Given the description of an element on the screen output the (x, y) to click on. 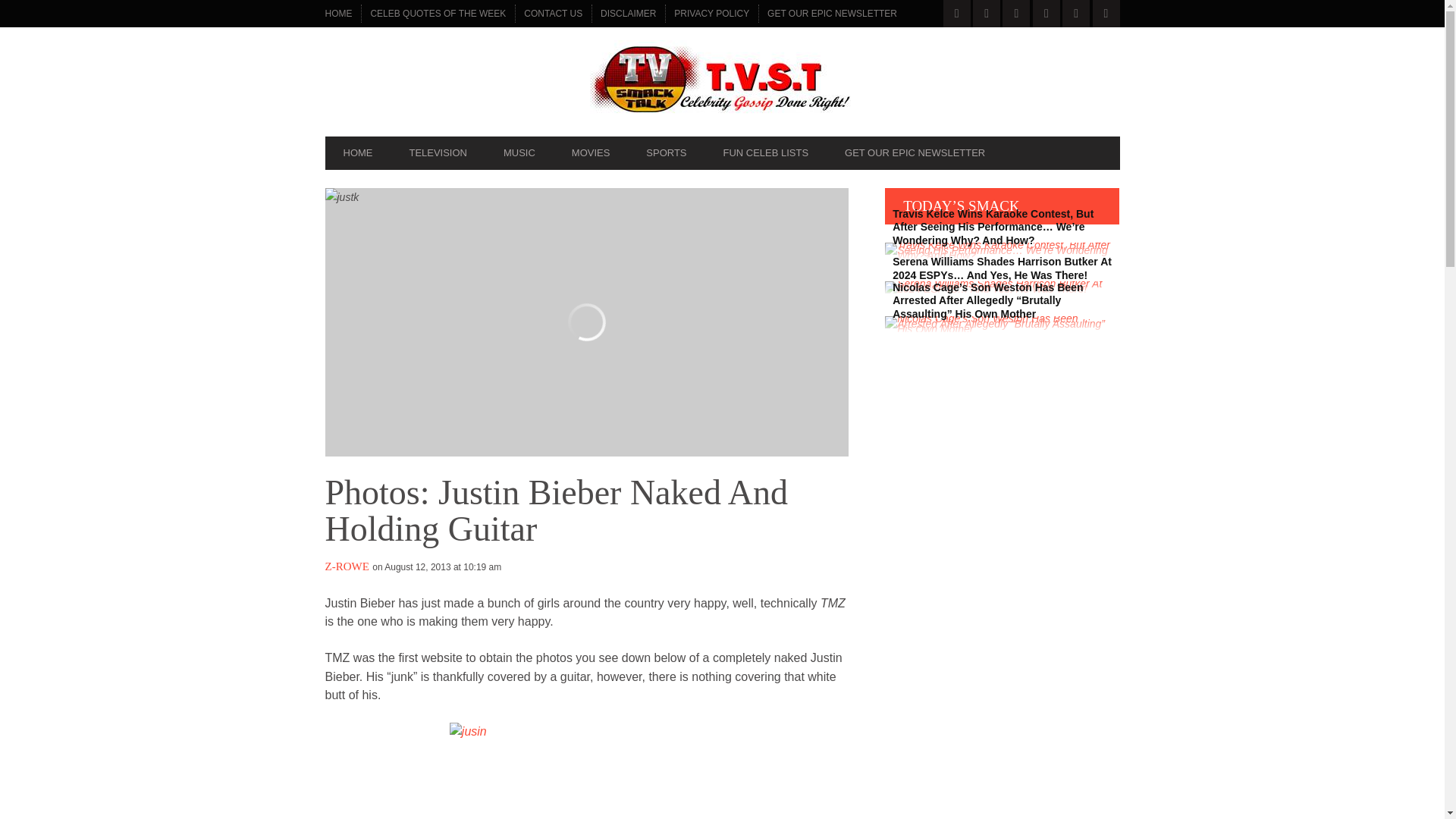
HOME (357, 153)
Posts by Z-rowe (346, 566)
T.V.S.T. (721, 81)
PRIVACY POLICY (711, 13)
CONTACT US (553, 13)
GET OUR EPIC NEWSLETTER (831, 13)
TELEVISION (437, 153)
CELEB QUOTES OF THE WEEK (438, 13)
HOME (338, 13)
DISCLAIMER (628, 13)
